Given the description of an element on the screen output the (x, y) to click on. 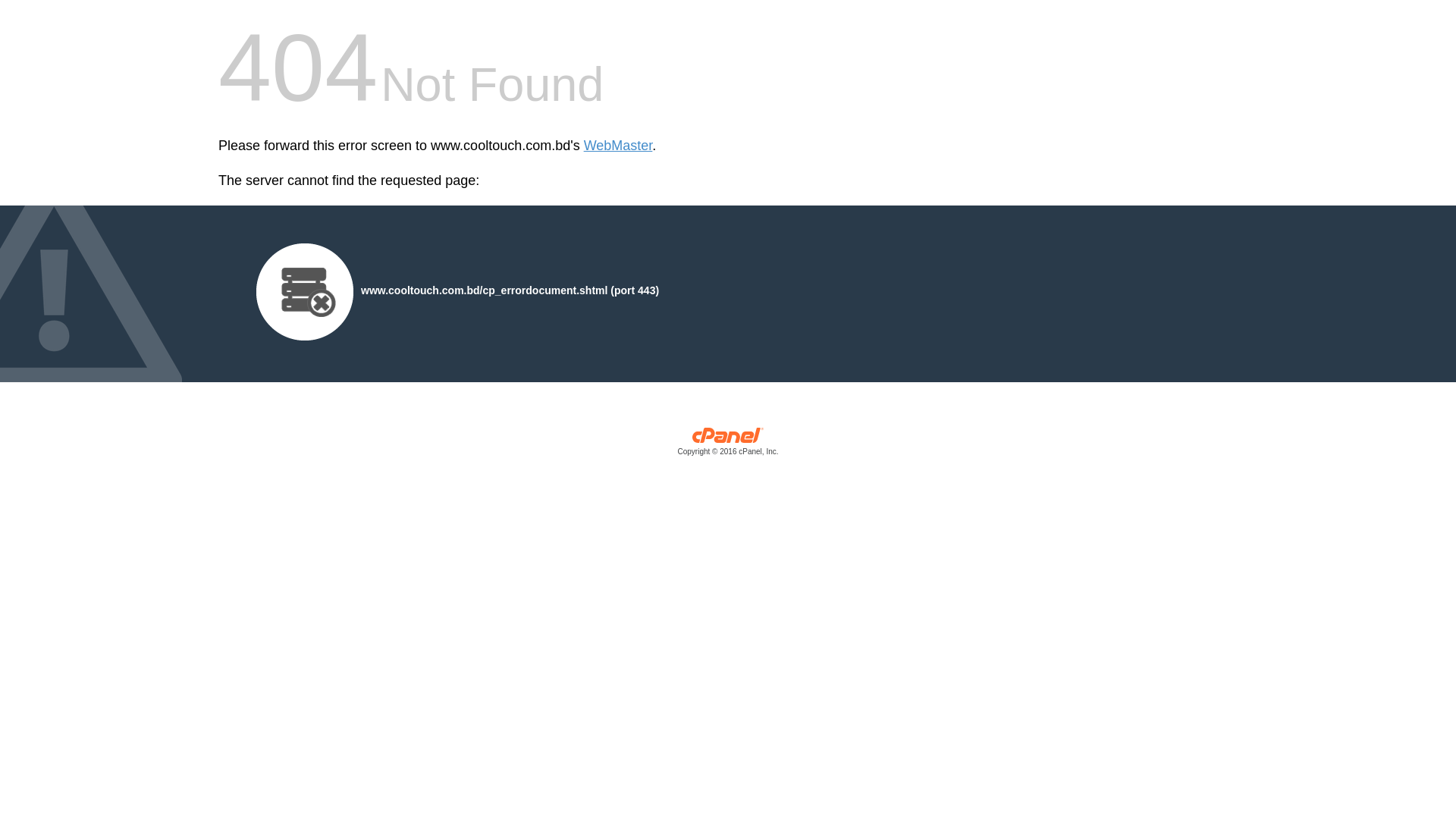
WebMaster Element type: text (617, 145)
